Given the description of an element on the screen output the (x, y) to click on. 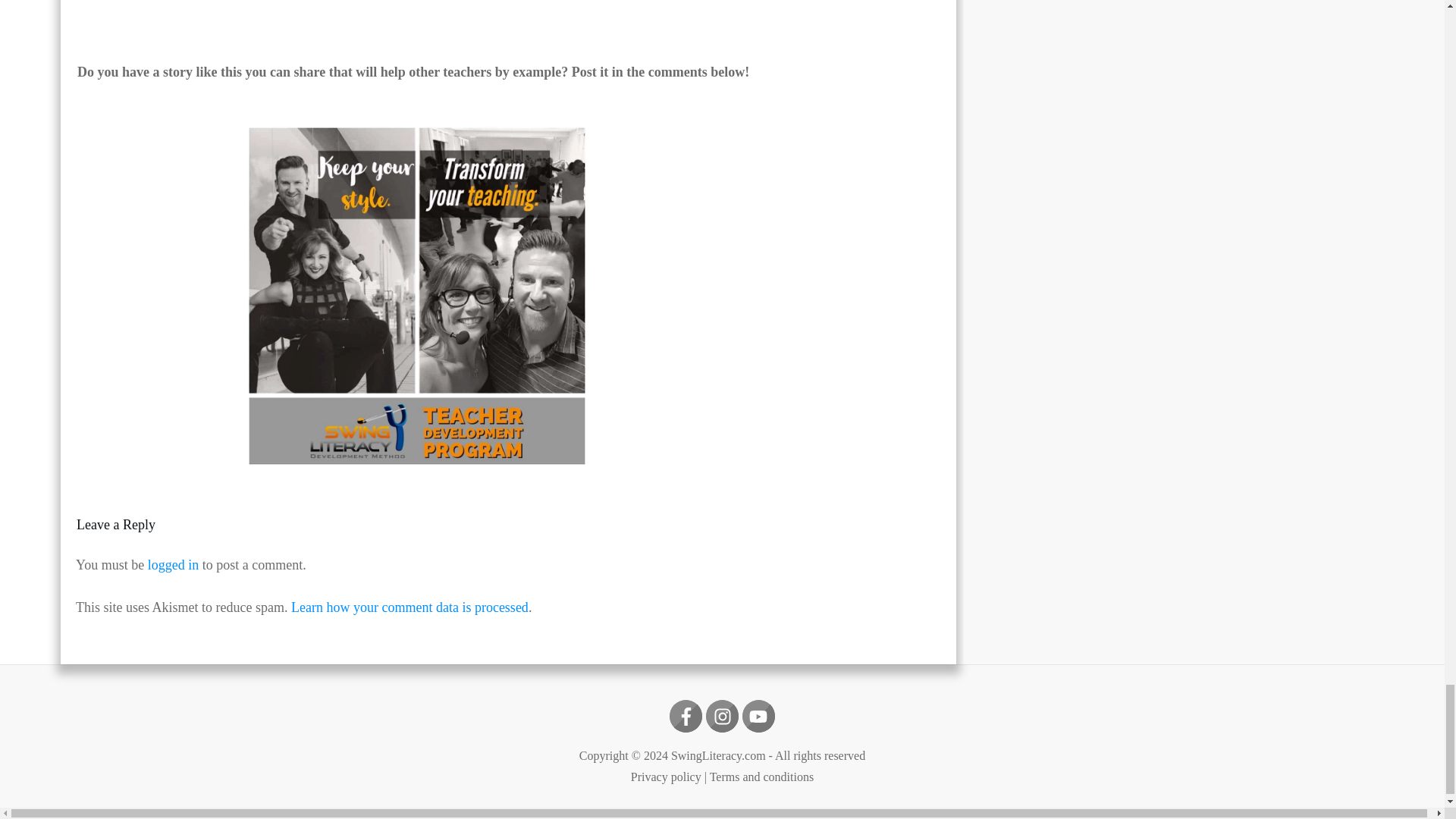
logged in (173, 564)
Privacy policy (665, 776)
Learn how your comment data is processed (409, 607)
Terms and conditions (761, 776)
